Given the description of an element on the screen output the (x, y) to click on. 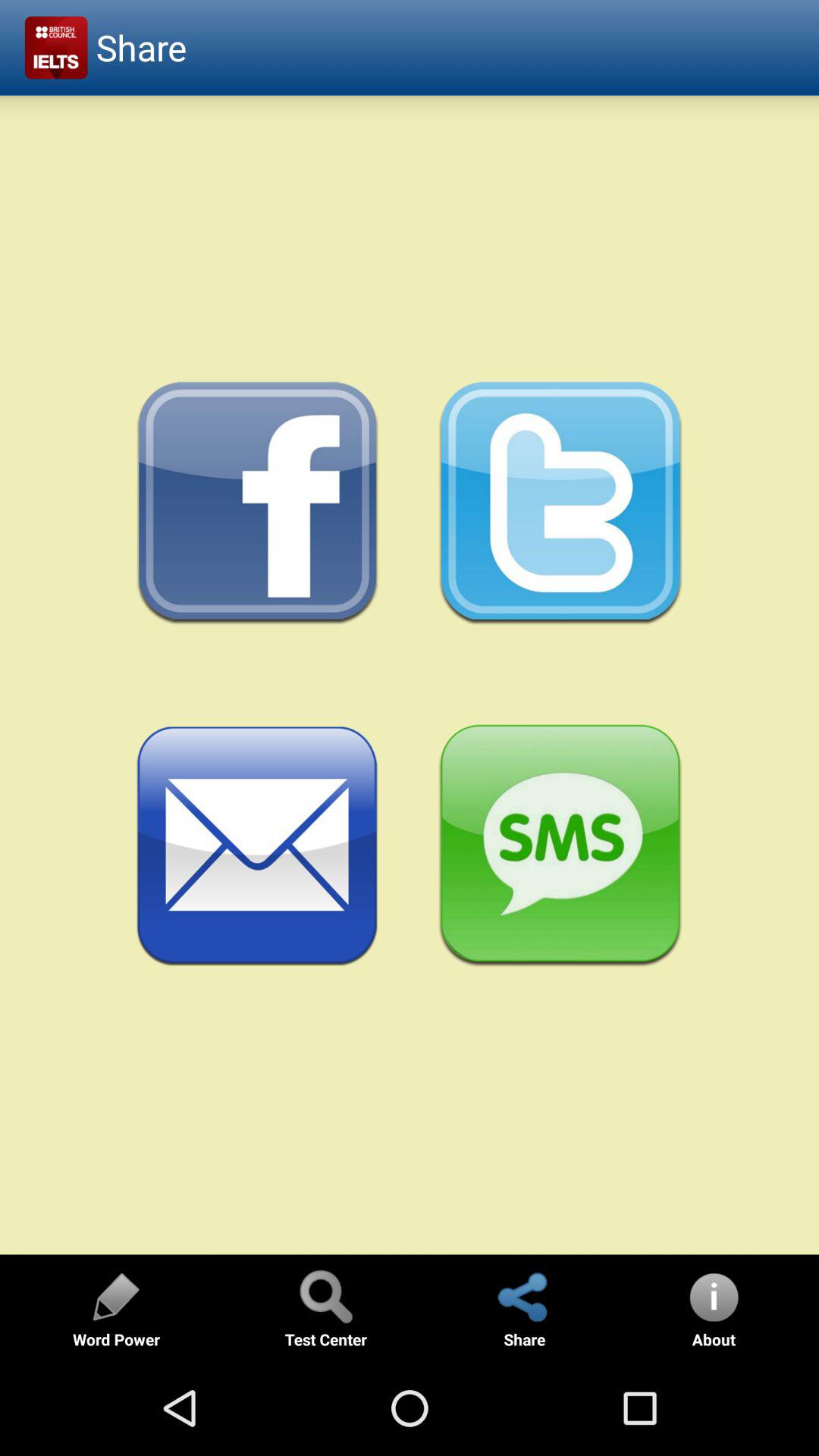
share in text message (560, 846)
